Given the description of an element on the screen output the (x, y) to click on. 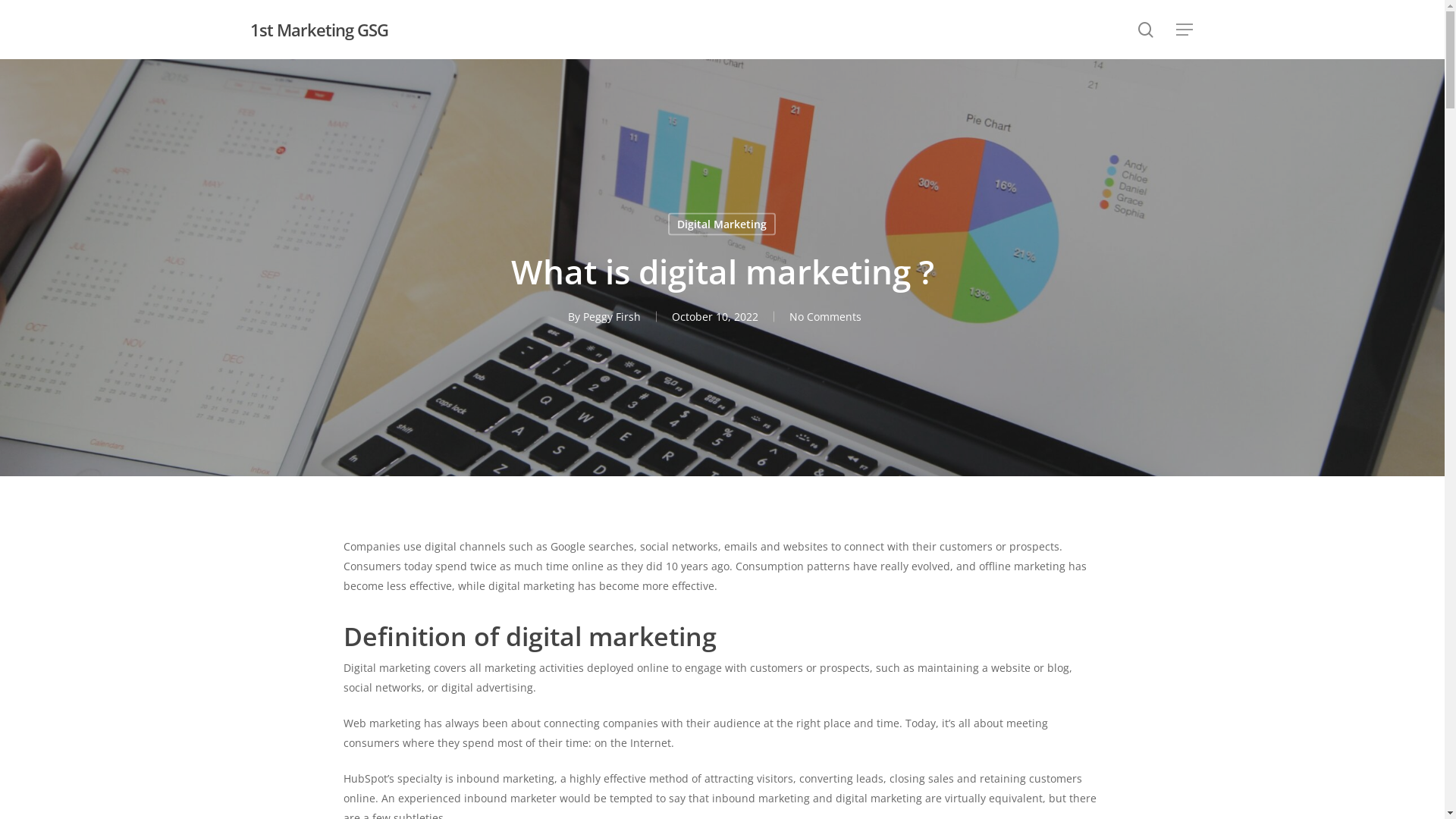
Menu Element type: text (1185, 29)
Digital Marketing Element type: text (721, 223)
search Element type: text (1145, 29)
Peggy Firsh Element type: text (611, 316)
No Comments Element type: text (825, 316)
1st Marketing GSG Element type: text (319, 29)
